Given the description of an element on the screen output the (x, y) to click on. 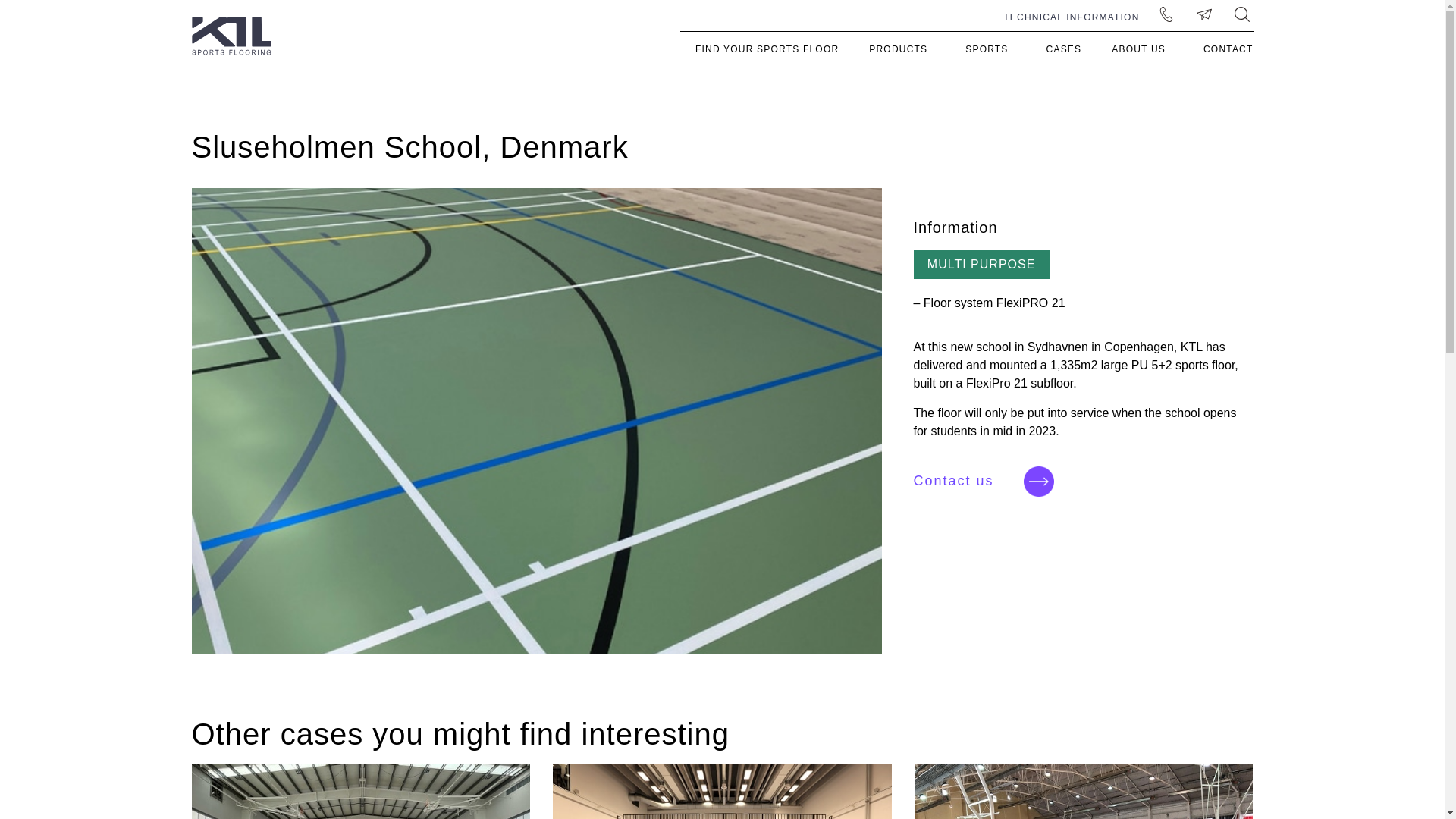
ABOUT US (1142, 48)
PRODUCTS (901, 48)
CASES (1063, 48)
SPORTS (990, 48)
FIND YOUR SPORTS FLOOR (766, 48)
TECHNICAL INFORMATION (1070, 17)
